Given the description of an element on the screen output the (x, y) to click on. 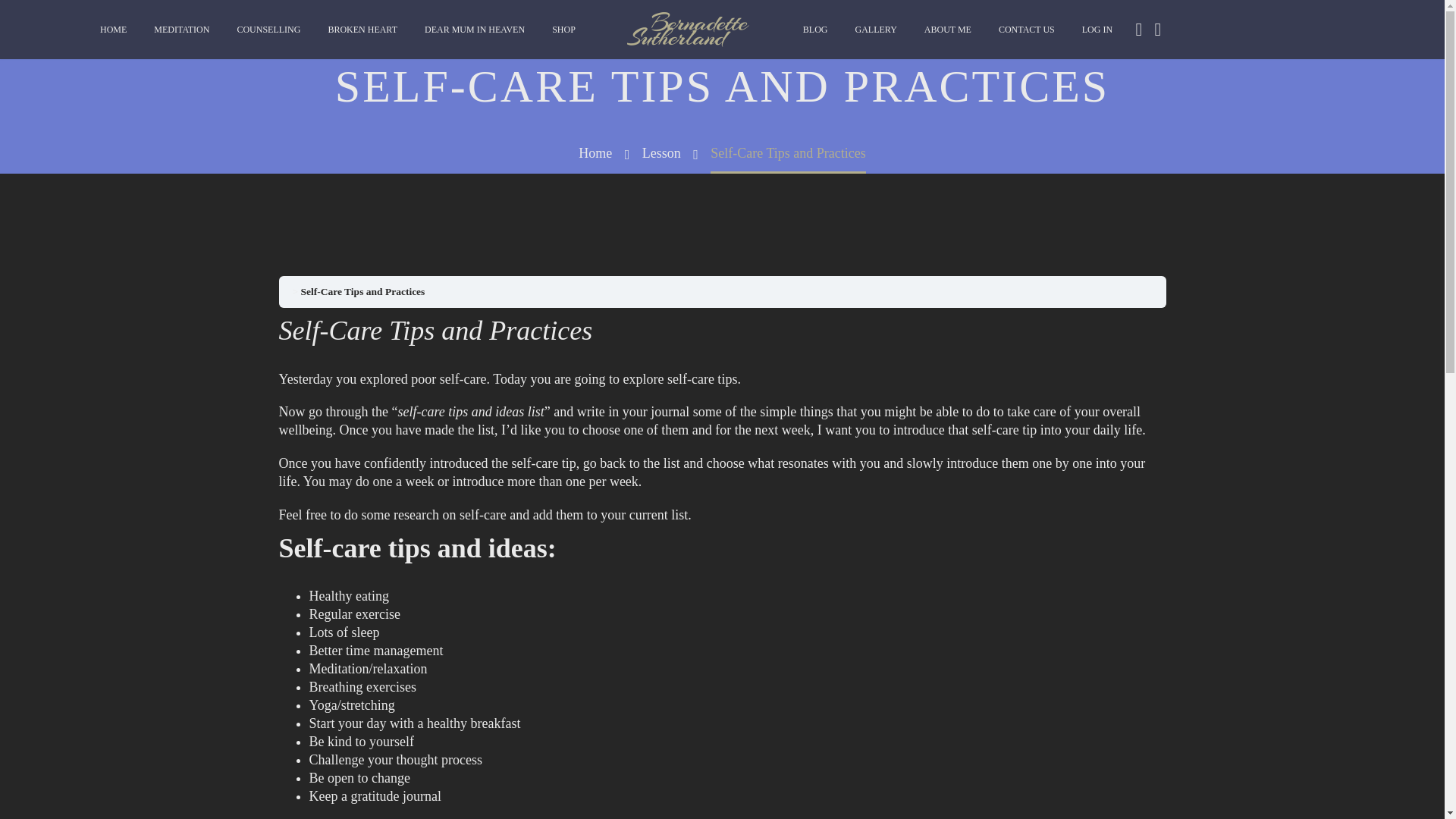
Home (594, 152)
GALLERY (875, 29)
BLOG (816, 29)
Self-Care Tips and Practices (362, 291)
BROKEN HEART (362, 29)
SHOP (563, 29)
MEDITATION (181, 29)
CONTACT US (1026, 29)
HOME (113, 29)
COUNSELLING (268, 29)
DEAR MUM IN HEAVEN (474, 29)
ABOUT ME (947, 29)
LOG IN (1097, 29)
